Given the description of an element on the screen output the (x, y) to click on. 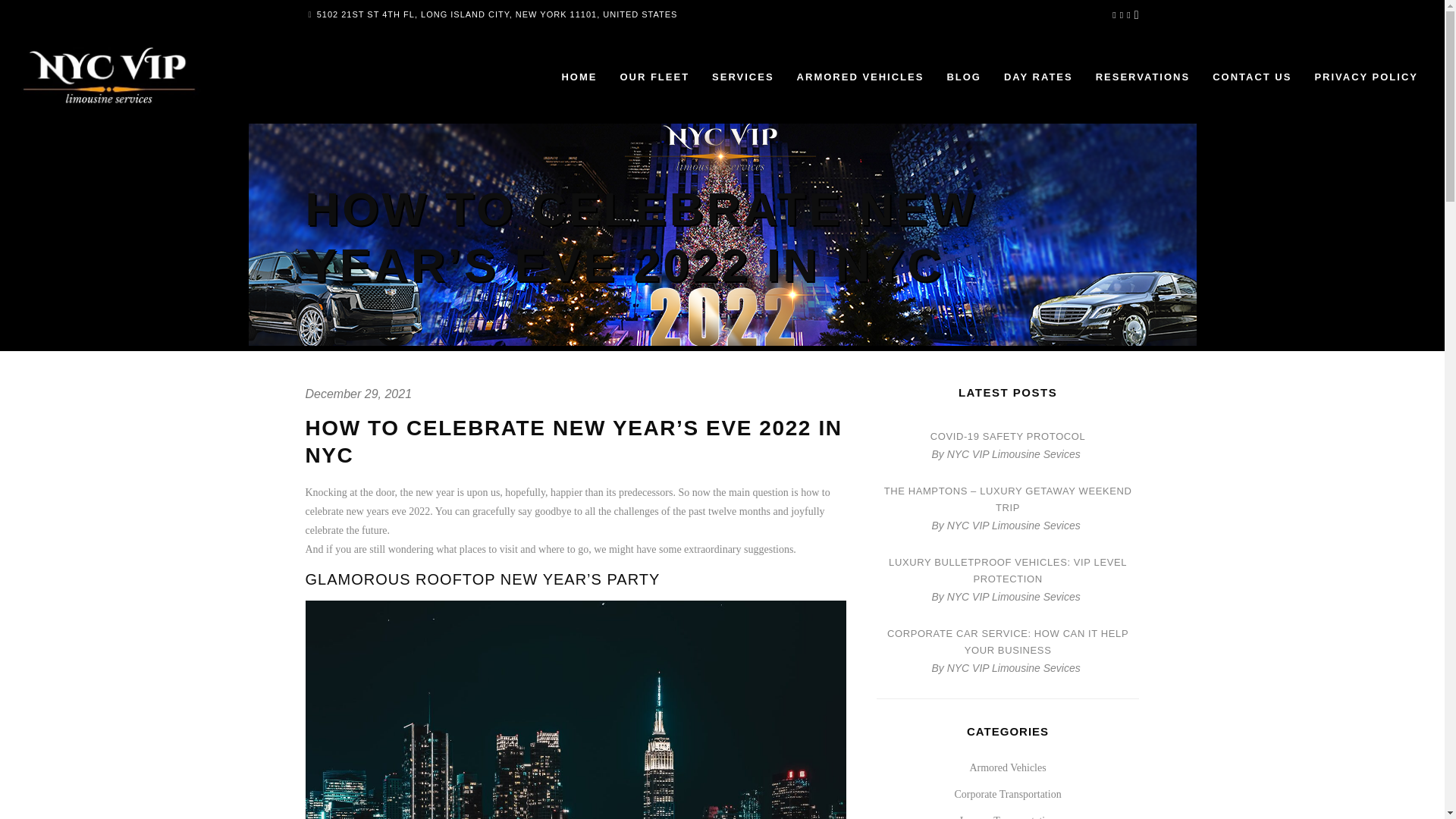
DAY RATES (1038, 75)
RESERVATIONS (1142, 75)
PRIVACY POLICY (1366, 75)
SERVICES (743, 75)
OUR FLEET (654, 75)
CONTACT US (1252, 75)
ARMORED VEHICLES (861, 75)
